Given the description of an element on the screen output the (x, y) to click on. 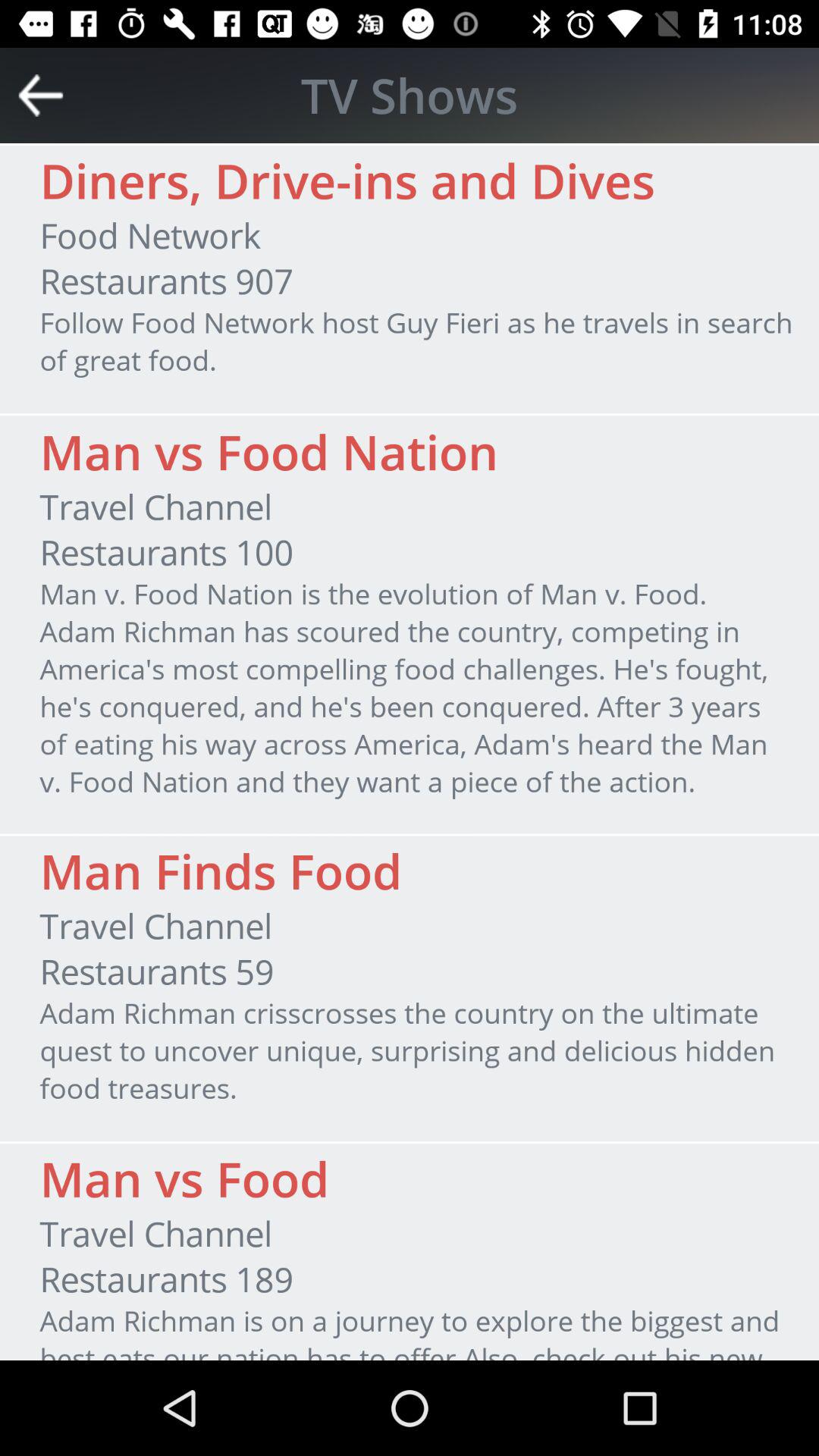
jump until the restaurants 100 icon (166, 552)
